Given the description of an element on the screen output the (x, y) to click on. 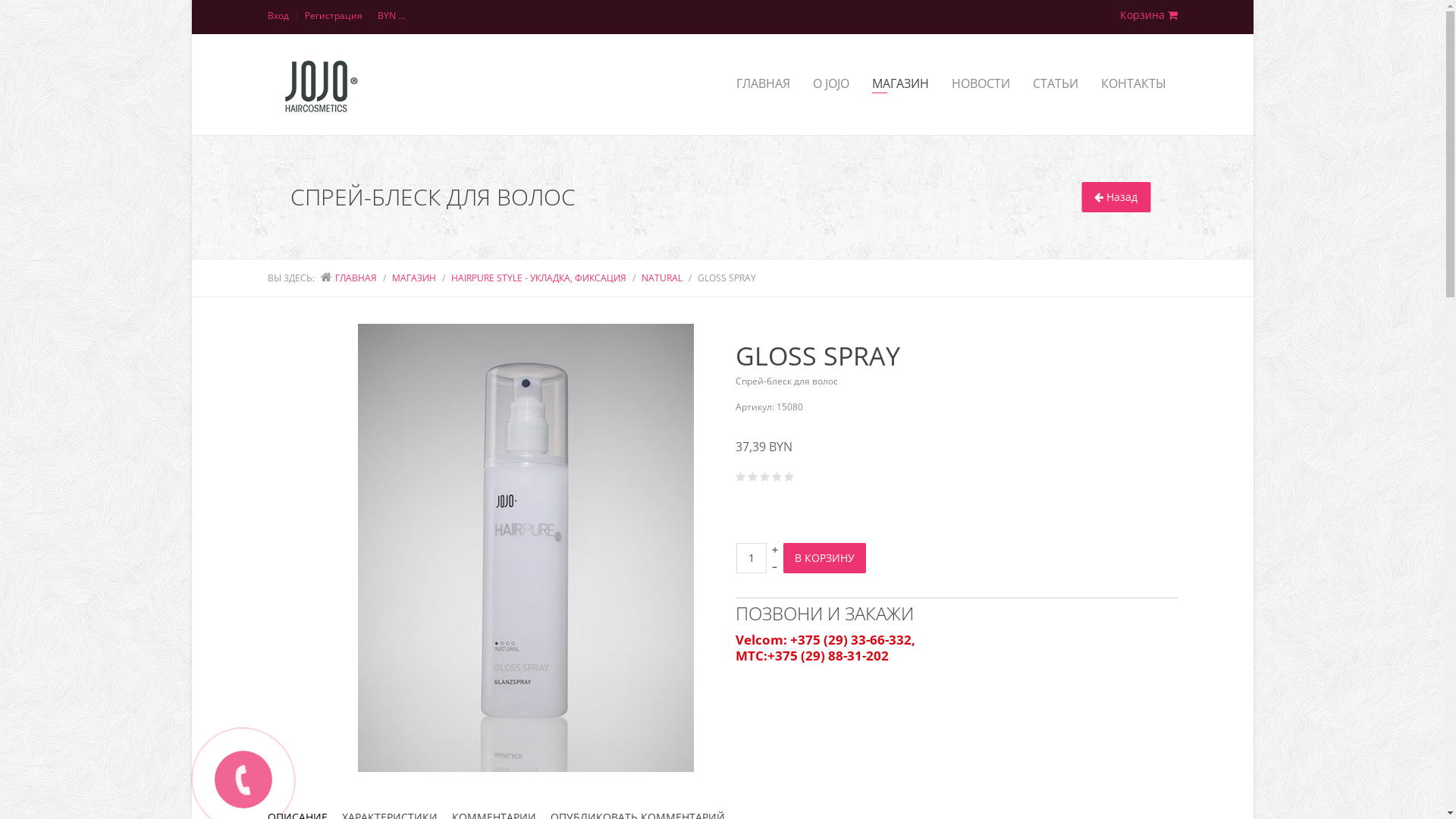
+ Element type: text (774, 549)
NATURAL Element type: text (661, 277)
BYN BYN Element type: text (392, 16)
